Given the description of an element on the screen output the (x, y) to click on. 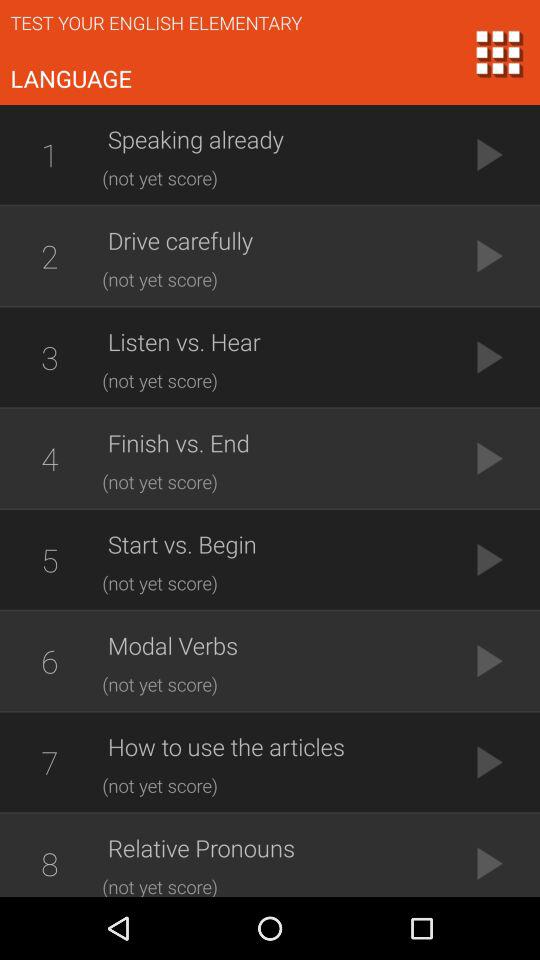
press 3 icon (49, 357)
